Given the description of an element on the screen output the (x, y) to click on. 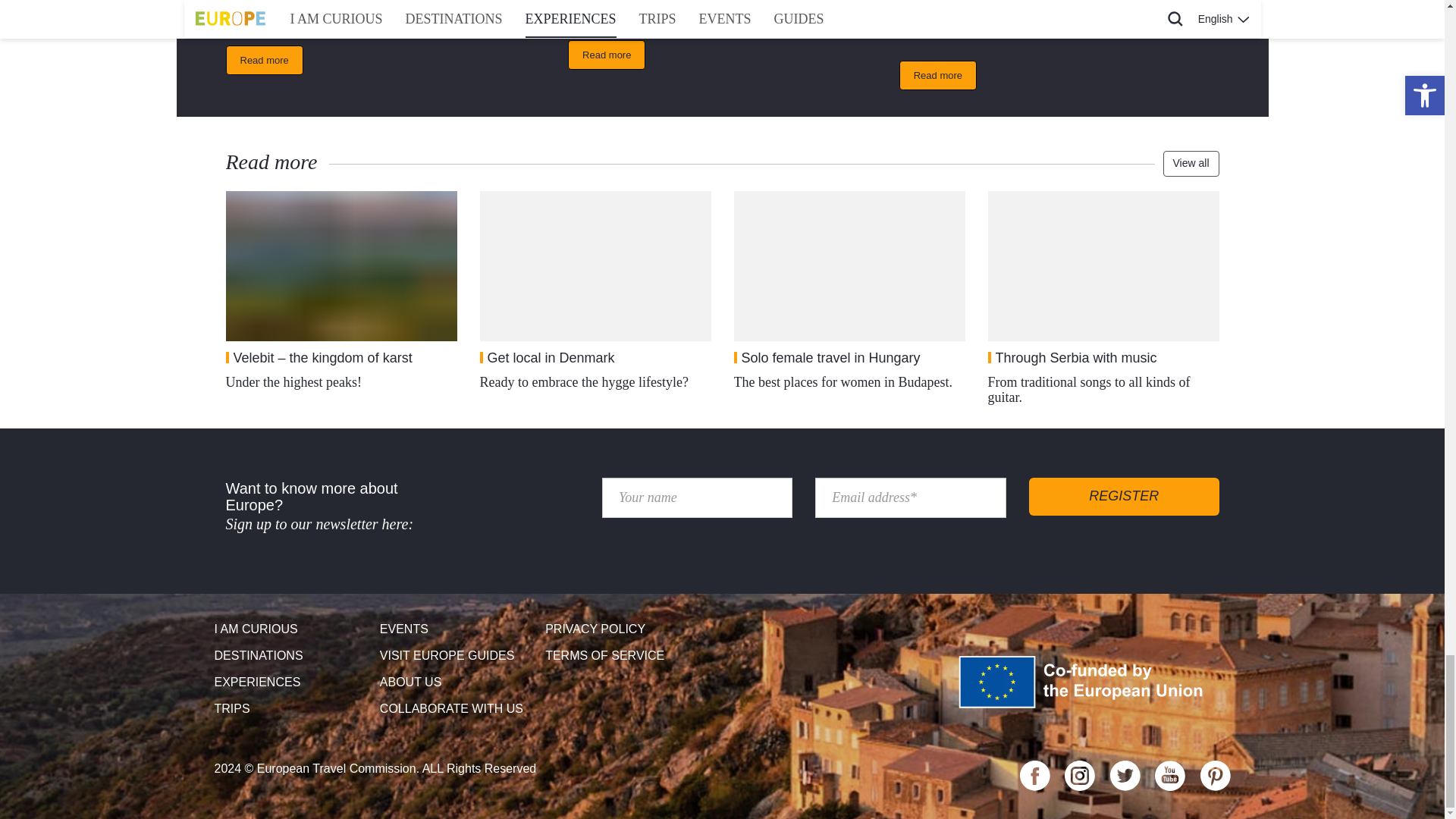
PRIVACY POLICY (621, 629)
DESTINATIONS (291, 655)
EVENTS (457, 629)
COLLABORATE WITH US (457, 709)
Register (1124, 496)
TRIPS (291, 709)
VISIT EUROPE GUIDES (457, 655)
ABOUT US (457, 682)
TERMS OF SERVICE (621, 655)
I AM CURIOUS (291, 629)
EXPERIENCES (291, 682)
